Given the description of an element on the screen output the (x, y) to click on. 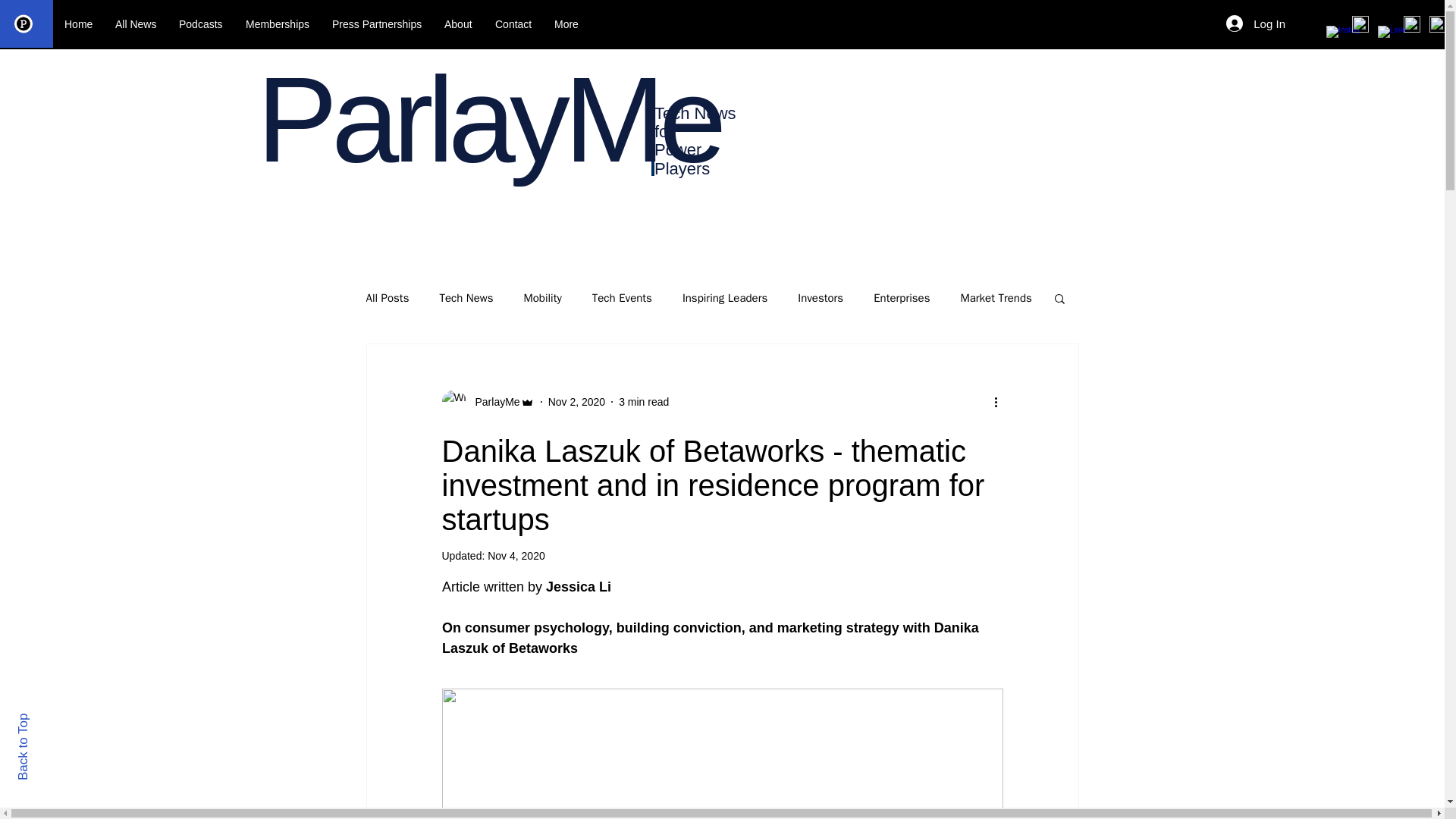
All News (135, 24)
Market Trends (994, 298)
Home (77, 24)
Mobility (541, 298)
ParlayMe (487, 401)
Nov 2, 2020 (576, 401)
Tech Events (622, 298)
3 min read (643, 401)
All Posts (387, 298)
Enterprises (901, 298)
